Given the description of an element on the screen output the (x, y) to click on. 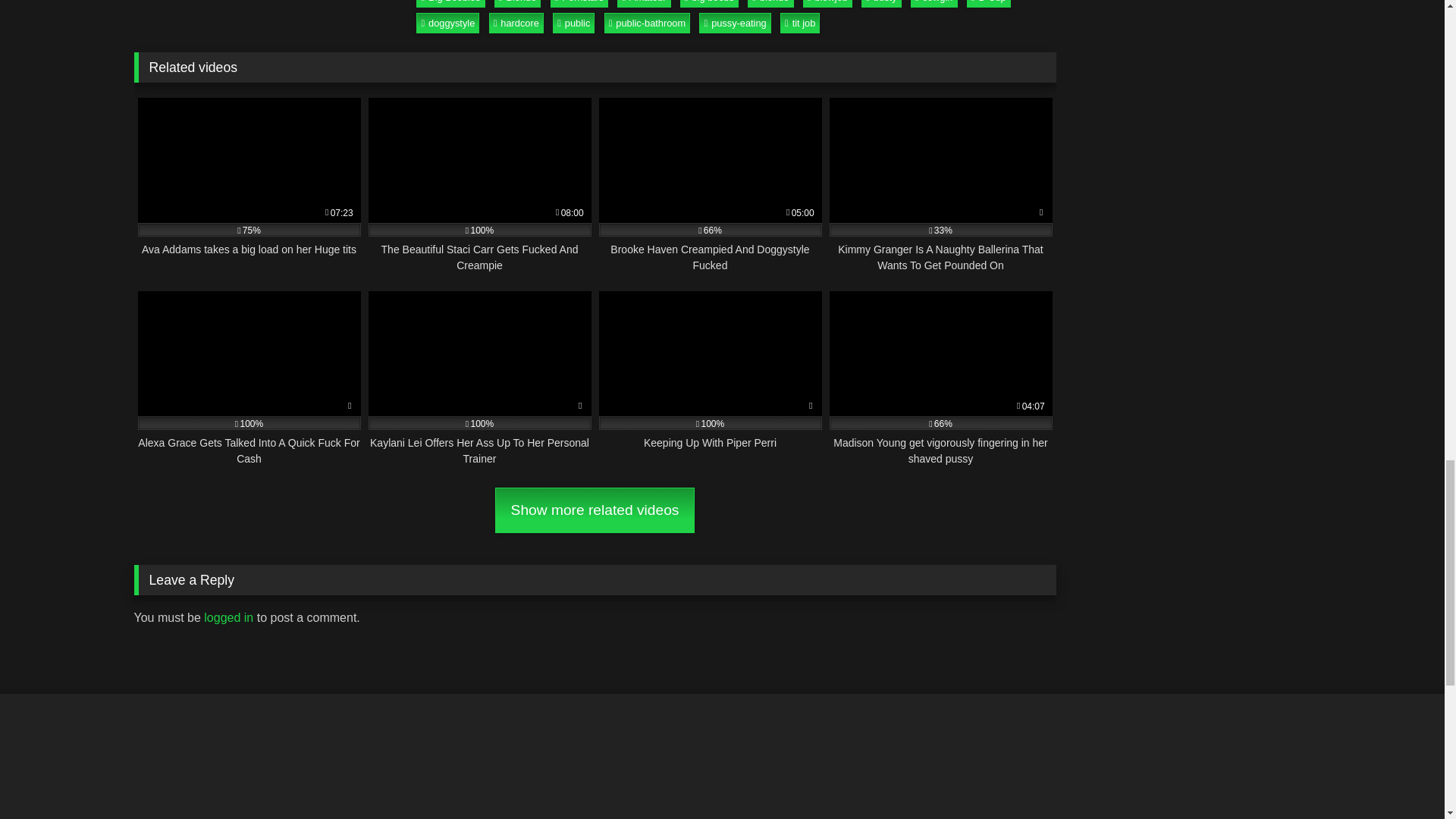
tit job (800, 22)
Blonde (518, 3)
blonde (770, 3)
pussy-eating (734, 22)
public-bathroom (647, 22)
big boobs (708, 3)
blonde (770, 3)
public (573, 22)
doggystyle (447, 22)
cowgirl (934, 3)
Big Boobies (450, 3)
D Cup (988, 3)
blowjob (827, 3)
Pornstars (579, 3)
Amateur (643, 3)
